Given the description of an element on the screen output the (x, y) to click on. 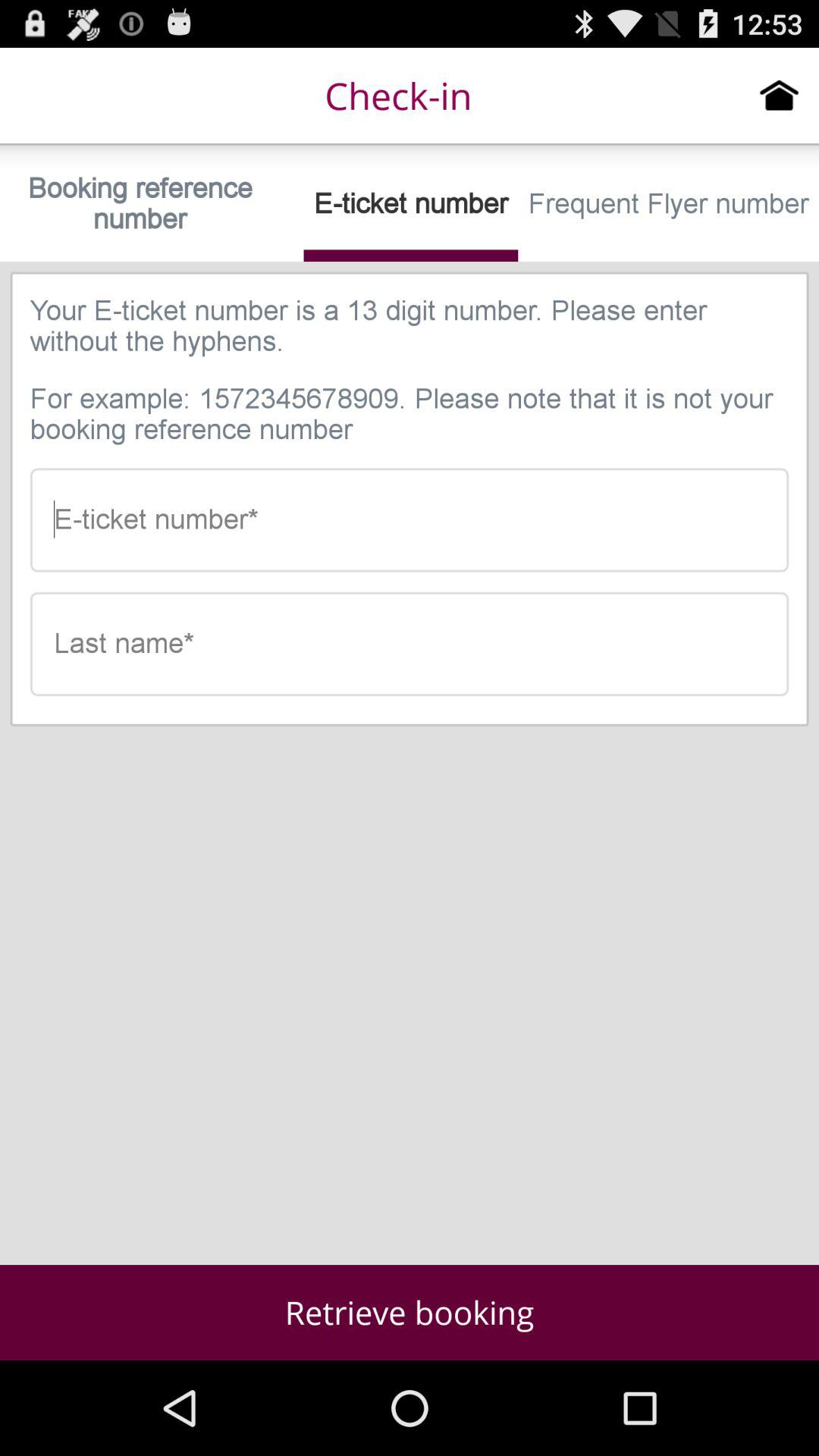
select the item below the for example 1572345678909 item (409, 519)
